Given the description of an element on the screen output the (x, y) to click on. 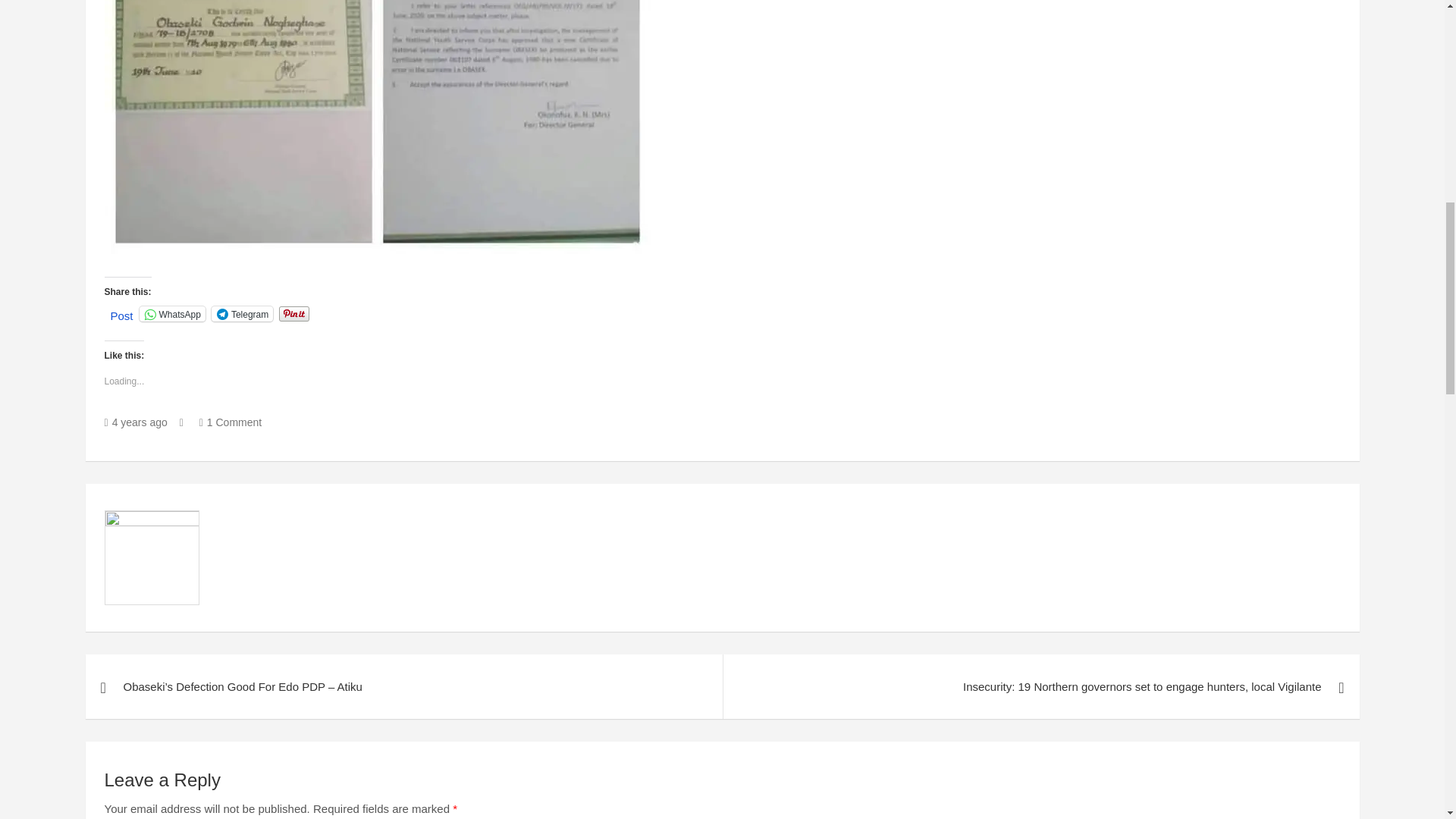
Click to share on Telegram (242, 313)
Click to share on WhatsApp (172, 313)
